Given the description of an element on the screen output the (x, y) to click on. 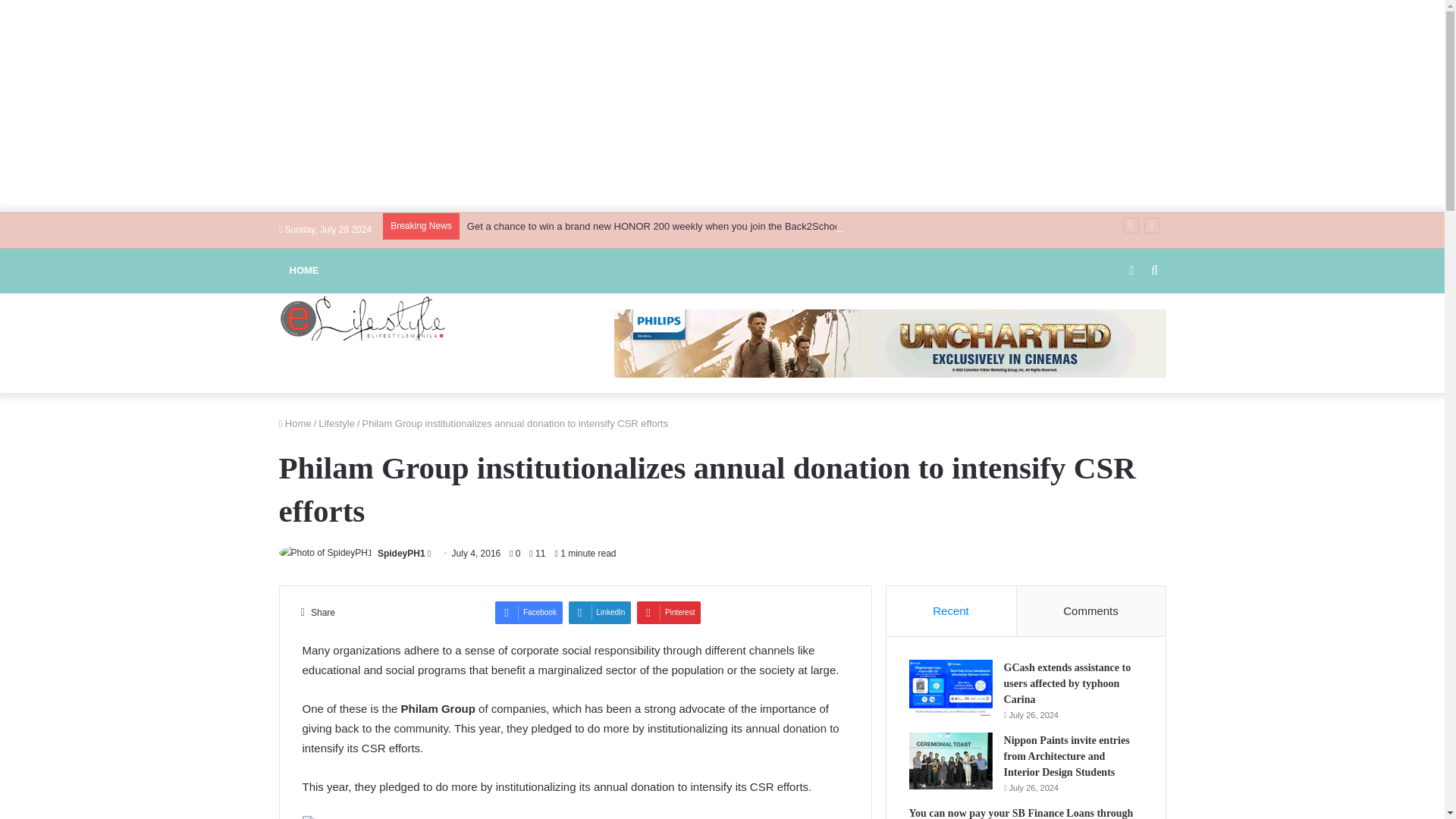
Home (295, 422)
ElifestyleManila.com (362, 316)
LinkedIn (600, 612)
Facebook (528, 612)
Pinterest (668, 612)
Facebook (528, 612)
HOME (304, 269)
LinkedIn (600, 612)
SpideyPH1 (401, 552)
Pinterest (668, 612)
SpideyPH1 (401, 552)
Lifestyle (336, 422)
